Given the description of an element on the screen output the (x, y) to click on. 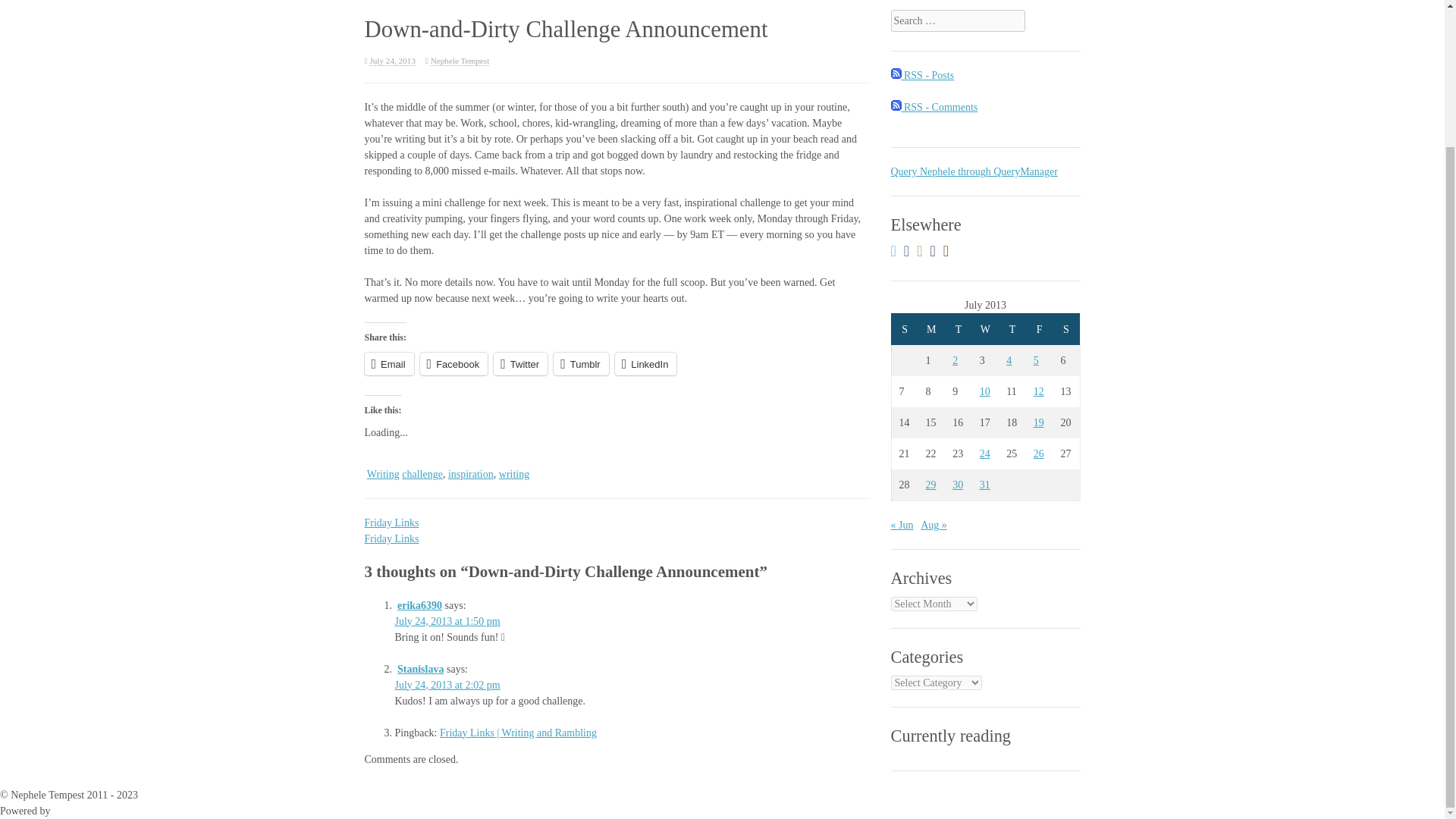
10 (984, 391)
 RSS - Comments (932, 107)
Click to share on Twitter (520, 363)
July 24, 2013 at 2:02 pm (446, 685)
12 (1038, 391)
Friday Links (391, 522)
Nephele Tempest (459, 61)
erika6390 (419, 604)
LinkedIn (645, 363)
Click to email a link to a friend (388, 363)
